Given the description of an element on the screen output the (x, y) to click on. 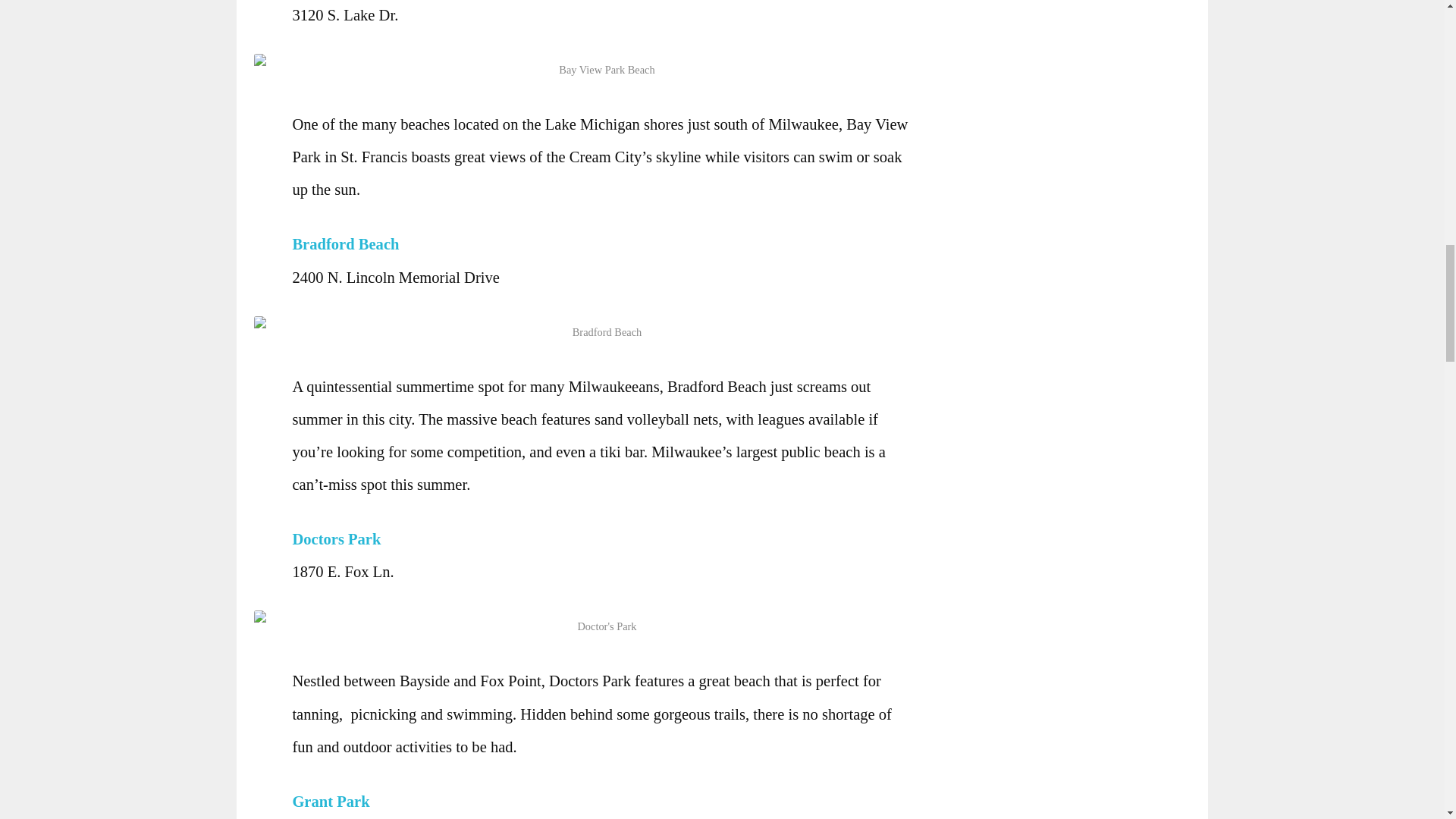
Grant Park (334, 801)
Doctors Park (340, 538)
Bradford Beach (349, 243)
